Given the description of an element on the screen output the (x, y) to click on. 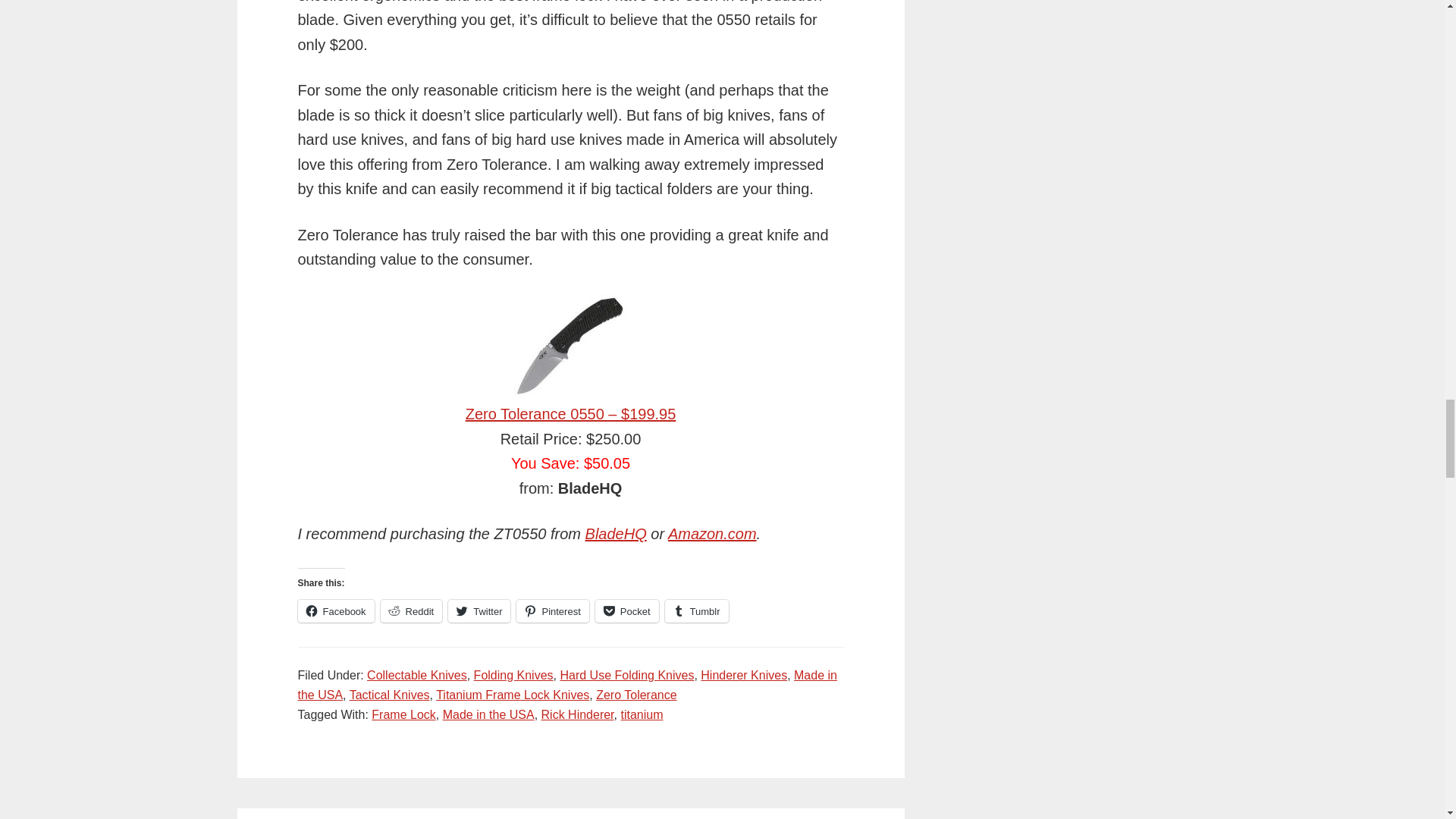
Click to share on Facebook (335, 610)
Click to share on Twitter (479, 610)
Click to share on Pinterest (552, 610)
Click to share on Pocket (627, 610)
Click to share on Reddit (411, 610)
Click to share on Tumblr (697, 610)
